Given the description of an element on the screen output the (x, y) to click on. 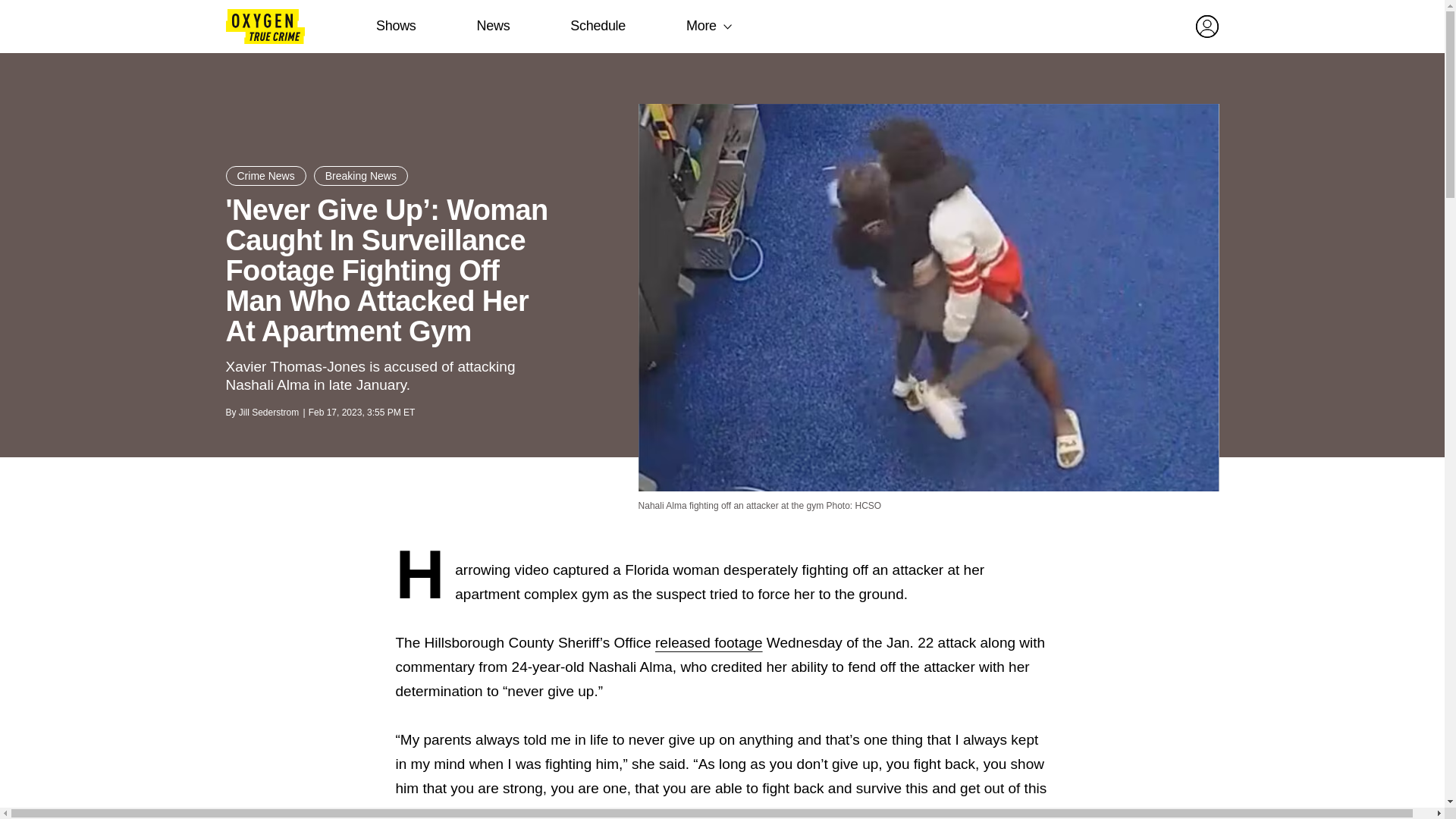
News (492, 26)
Schedule (598, 26)
Shows (395, 26)
Breaking News (360, 175)
Crime News (265, 175)
released footage (708, 642)
Jill Sederstrom (268, 412)
More (700, 26)
